Given the description of an element on the screen output the (x, y) to click on. 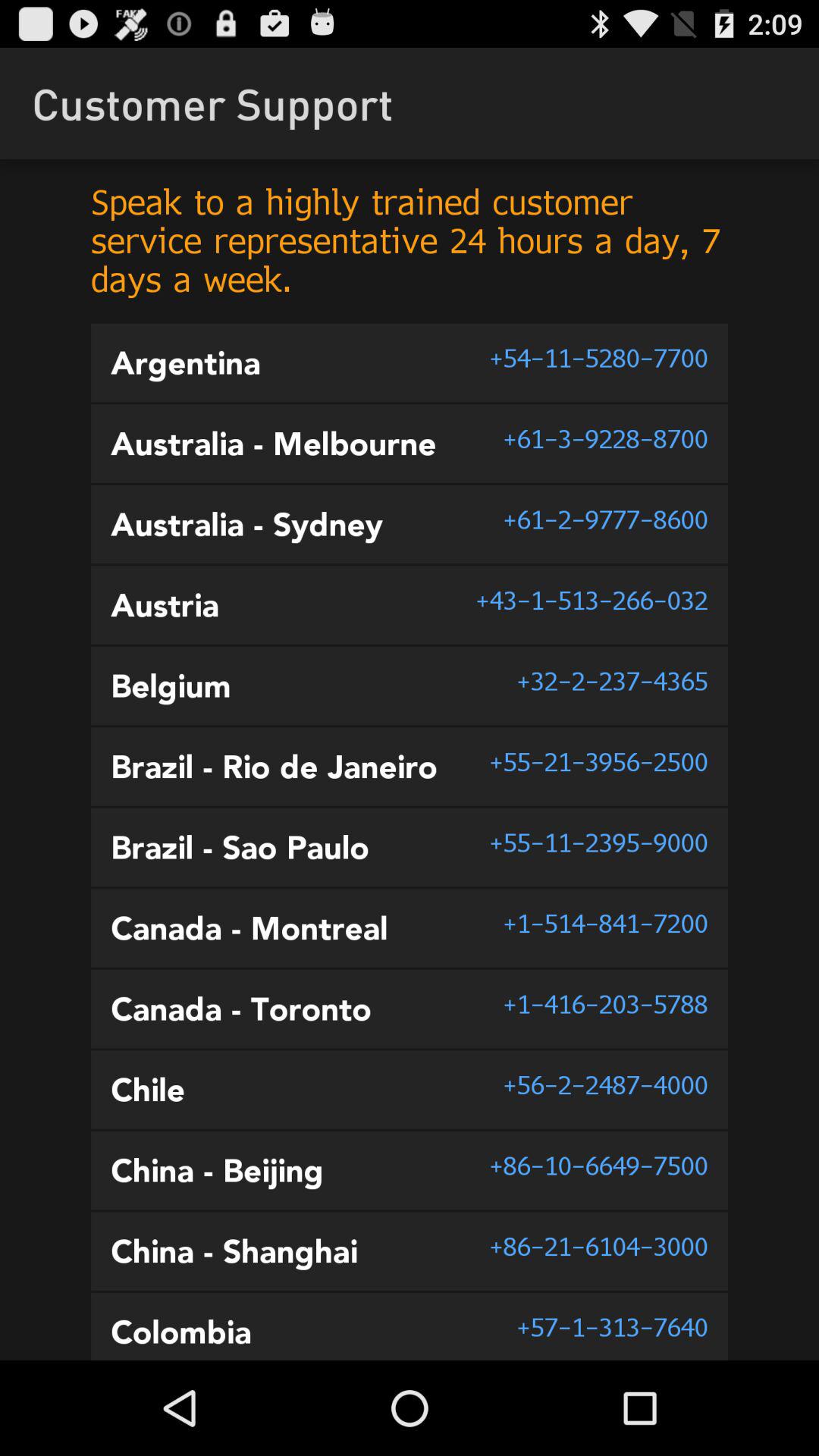
flip to 86 10 6649 (598, 1165)
